Given the description of an element on the screen output the (x, y) to click on. 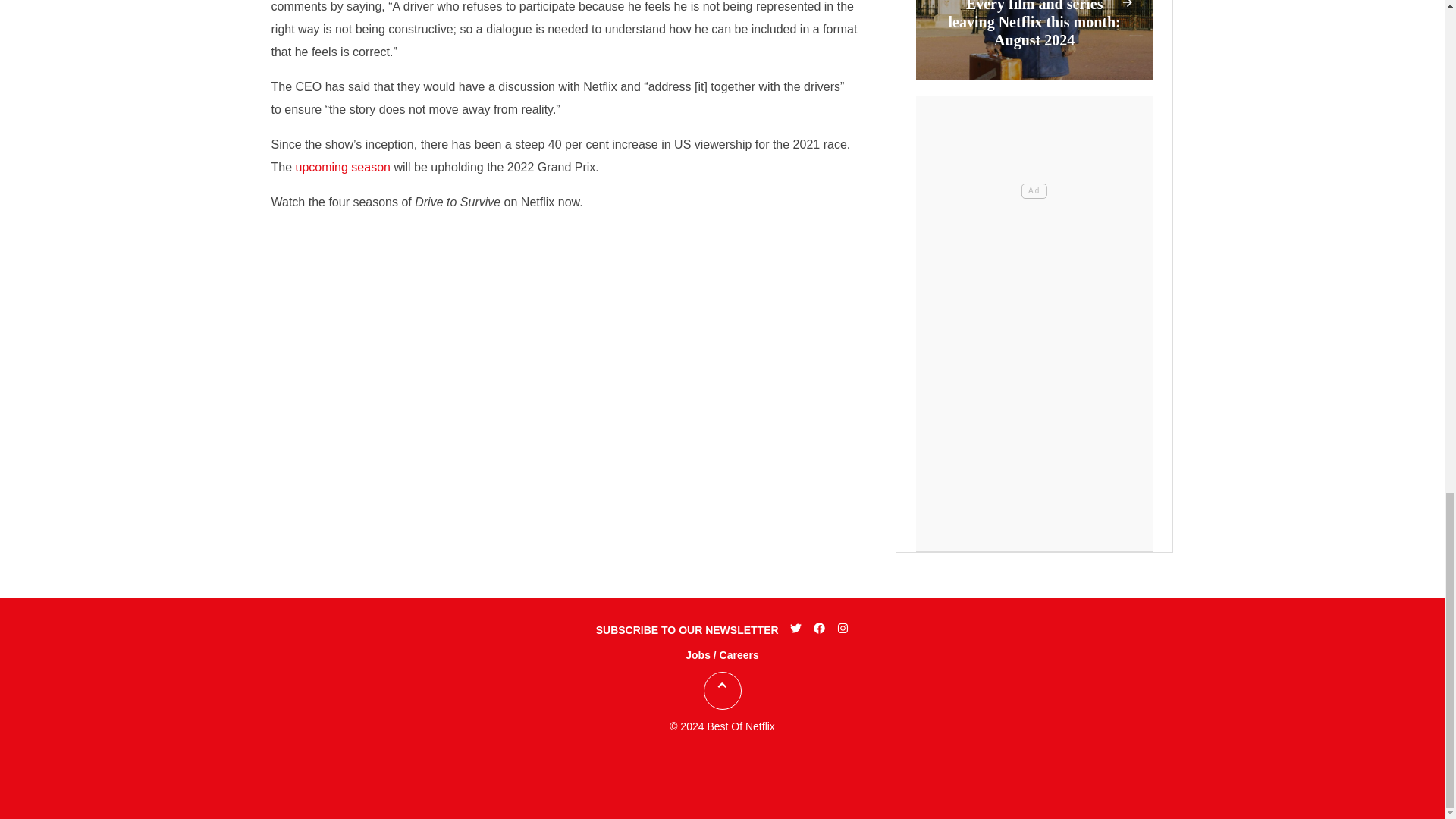
upcoming season (342, 167)
SUBSCRIBE TO OUR NEWSLETTER (687, 629)
